Given the description of an element on the screen output the (x, y) to click on. 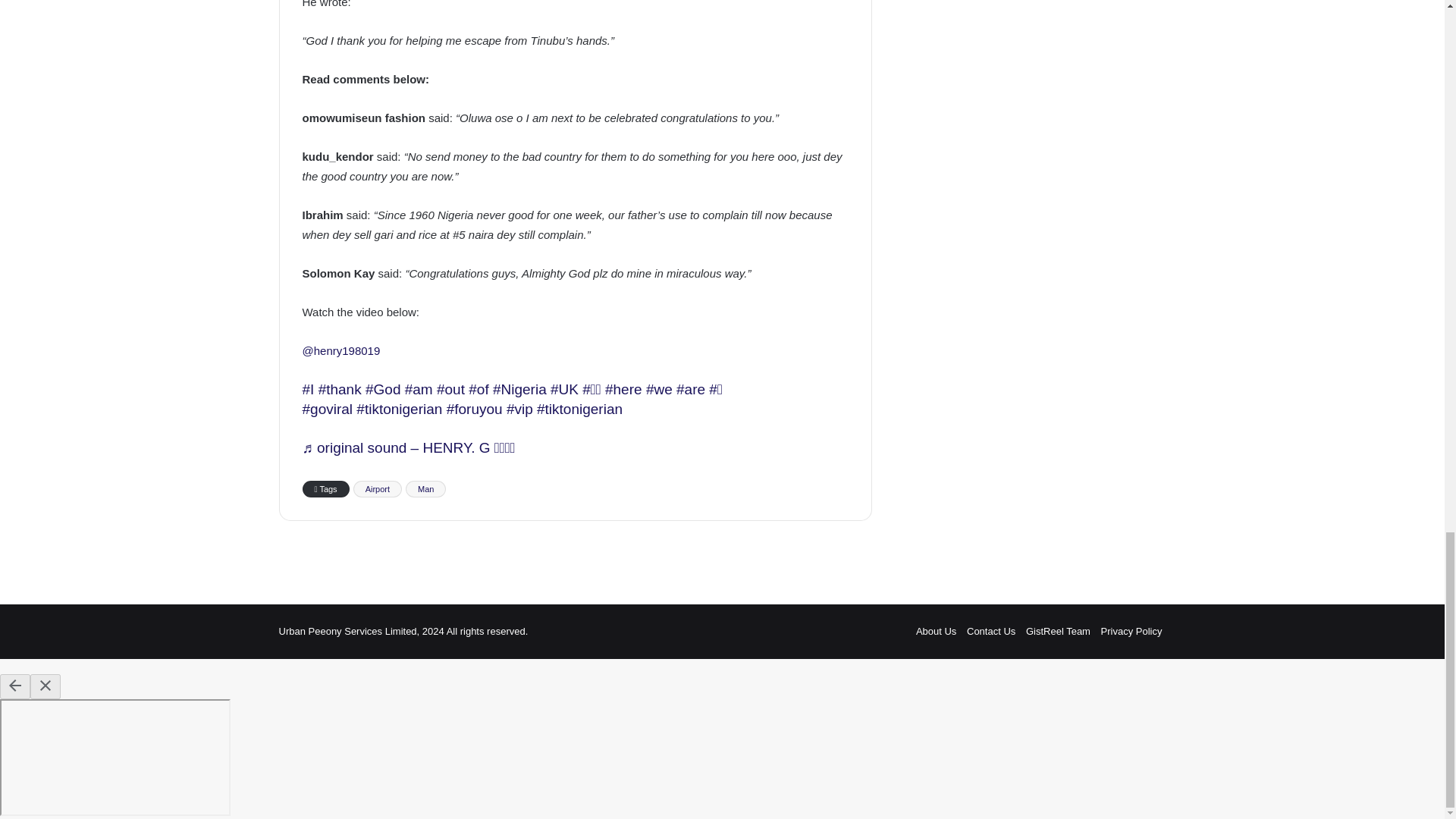
god (382, 389)
nigeria (520, 389)
thank (339, 389)
here (623, 389)
Man (425, 488)
we (659, 389)
Airport (377, 488)
of (477, 389)
uk (564, 389)
are (690, 389)
am (418, 389)
out (450, 389)
